Given the description of an element on the screen output the (x, y) to click on. 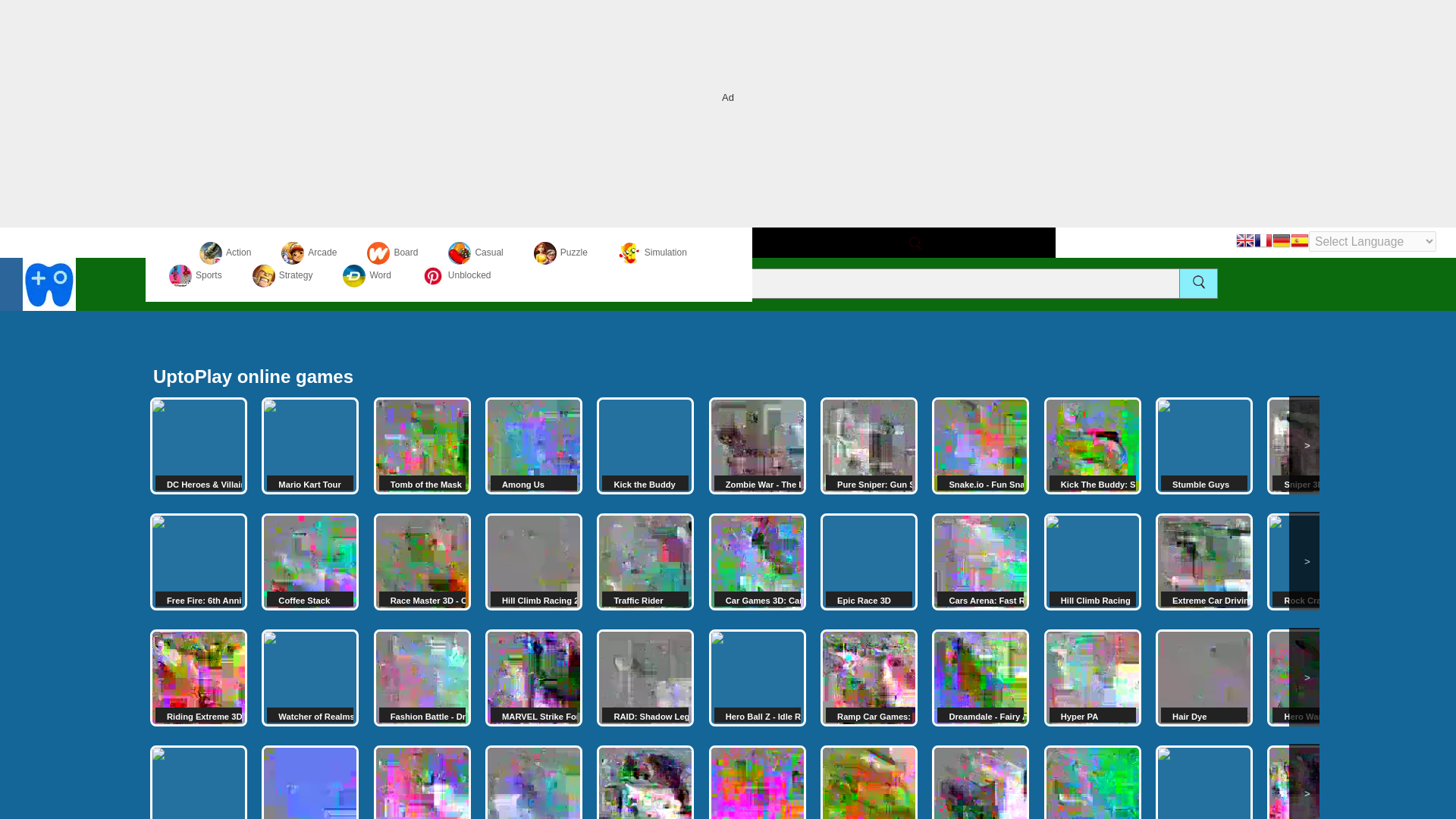
Kick the Buddy (645, 445)
Epic Race 3D (869, 561)
Simulation games online (652, 252)
Strategy games online (282, 275)
Arcade (308, 252)
search (1199, 280)
Zombie War - The Last Survivor (757, 445)
Action games online (224, 252)
Casual games online (475, 252)
Board (391, 252)
Action (224, 252)
Free Fire: 6th Anniversary (198, 561)
Snake.io - Fun Snake .io Games (980, 445)
Sport games online (195, 275)
Arcade games online (308, 252)
